Given the description of an element on the screen output the (x, y) to click on. 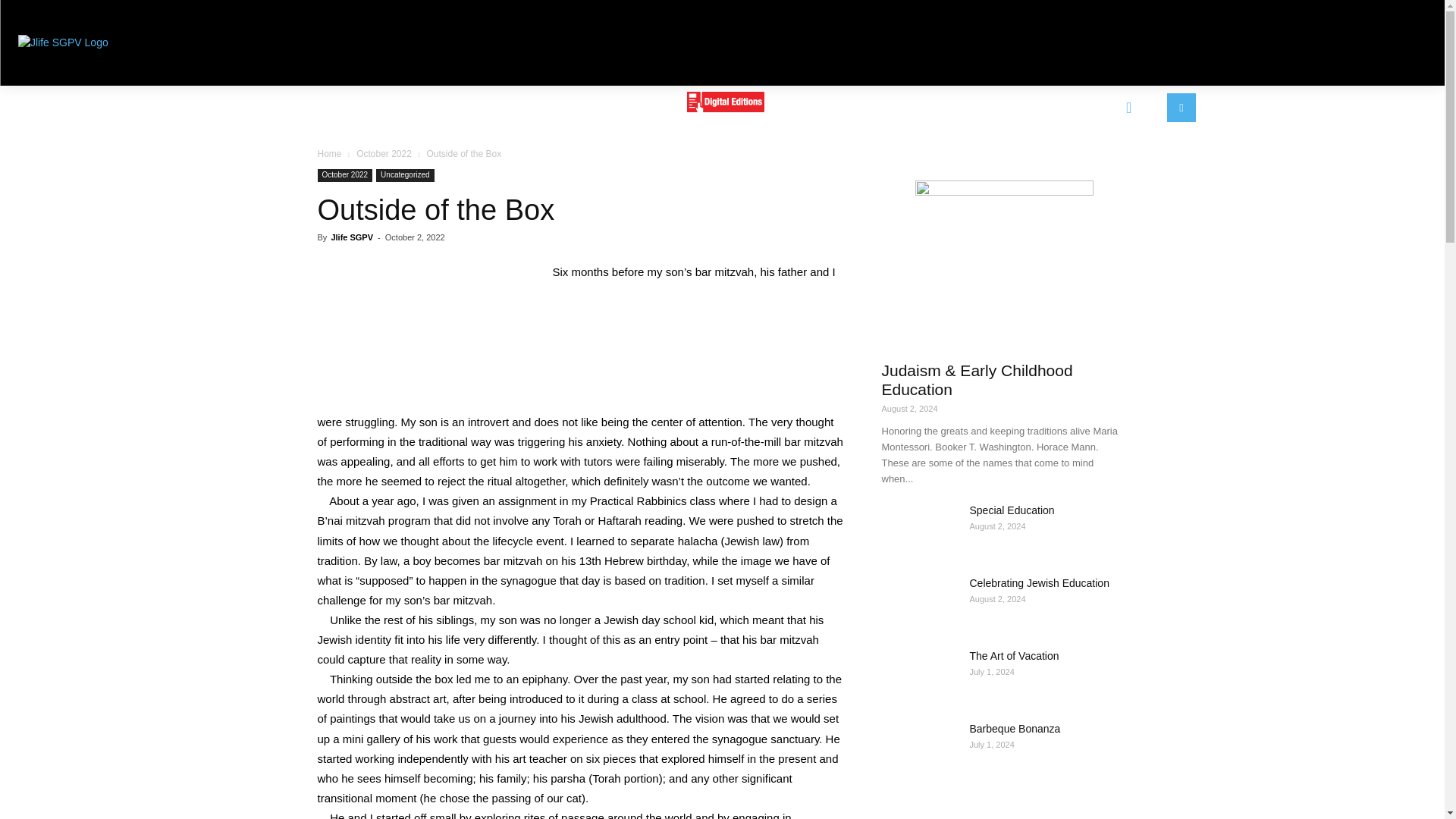
View all posts in October 2022 (384, 153)
Home (328, 153)
ADVERTISE (529, 105)
ARCHIVES (927, 105)
SUBSCRIBE (628, 105)
October 2022 (344, 174)
CONTACT US (828, 105)
October 2022 (384, 153)
ABOUT US (435, 105)
Uncategorized (404, 174)
